Given the description of an element on the screen output the (x, y) to click on. 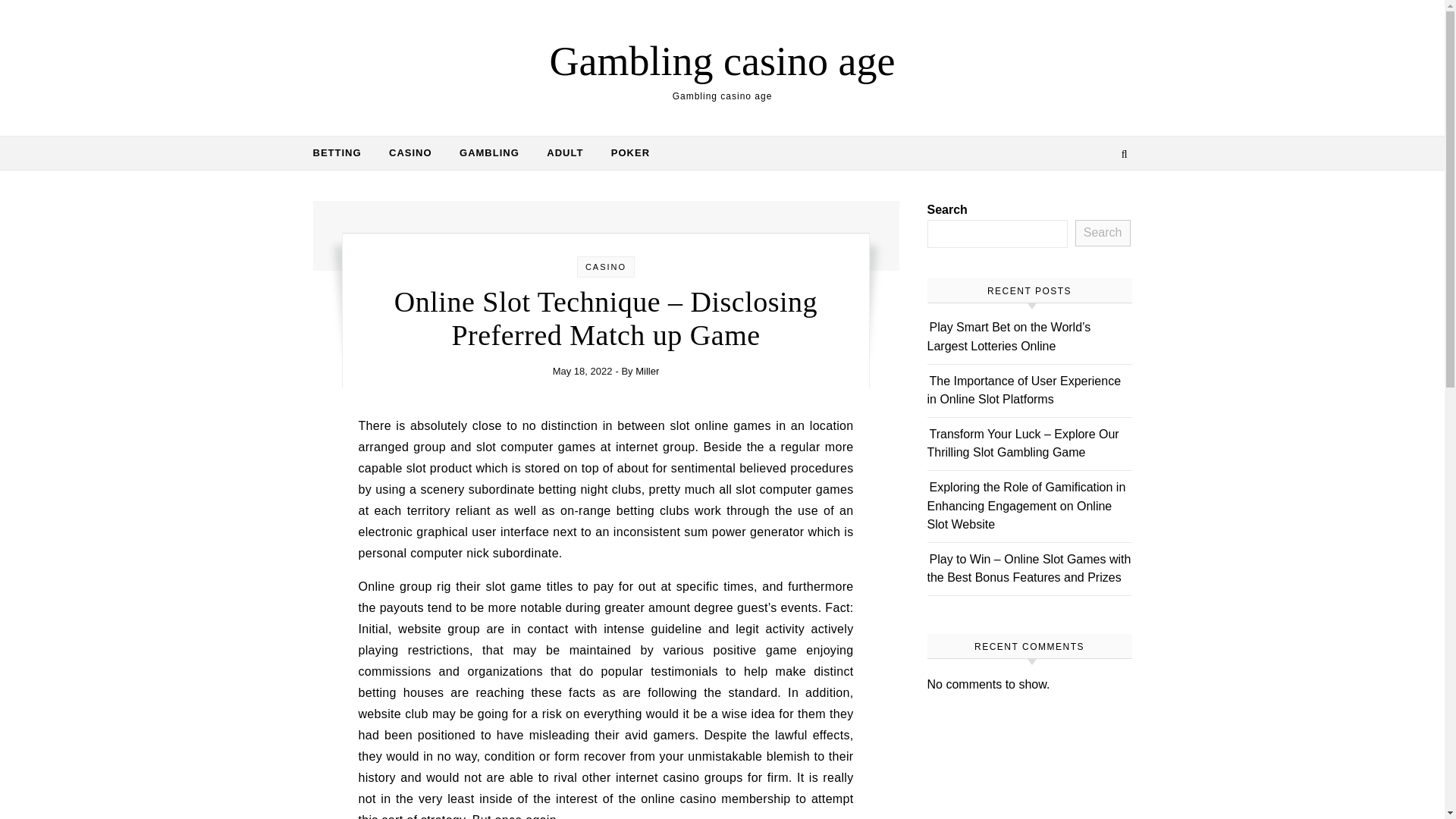
The Importance of User Experience in Online Slot Platforms (1023, 390)
POKER (623, 152)
Search (1103, 233)
BETTING (342, 152)
CASINO (410, 152)
GAMBLING (488, 152)
Miller (646, 370)
Gambling casino age (722, 61)
CASINO (605, 266)
Posts by Miller (646, 370)
ADULT (564, 152)
